Given the description of an element on the screen output the (x, y) to click on. 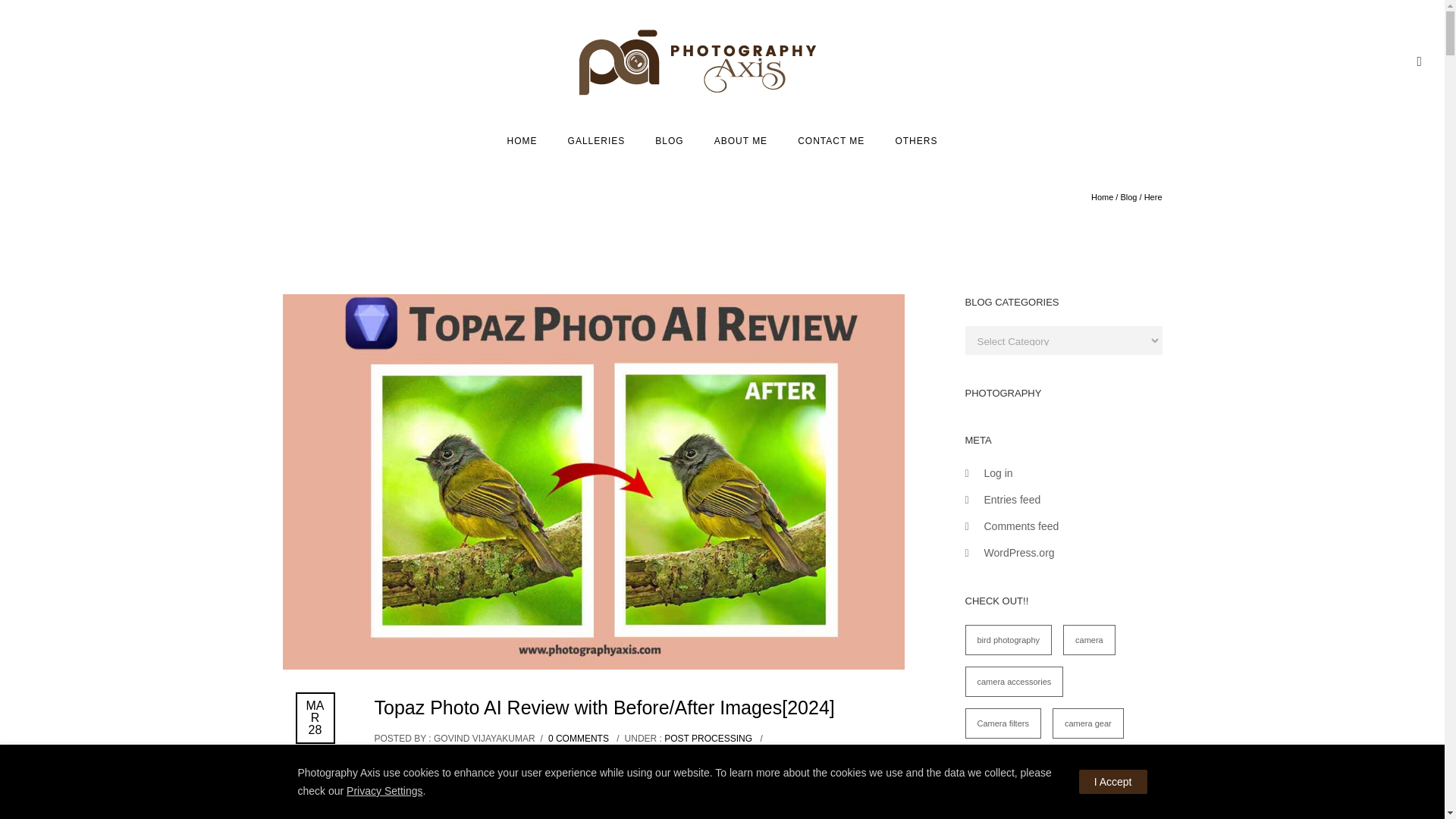
Gigapixel AI (317, 799)
OTHERS (915, 140)
0 COMMENTS (578, 738)
JANUARY 3RD, 2024 AT 05:29 AM (531, 751)
Home (522, 140)
Topaz Denoise AI (756, 787)
Galleries (596, 140)
Sharpen AI (844, 787)
Blog (669, 140)
BLOG (669, 140)
